Given the description of an element on the screen output the (x, y) to click on. 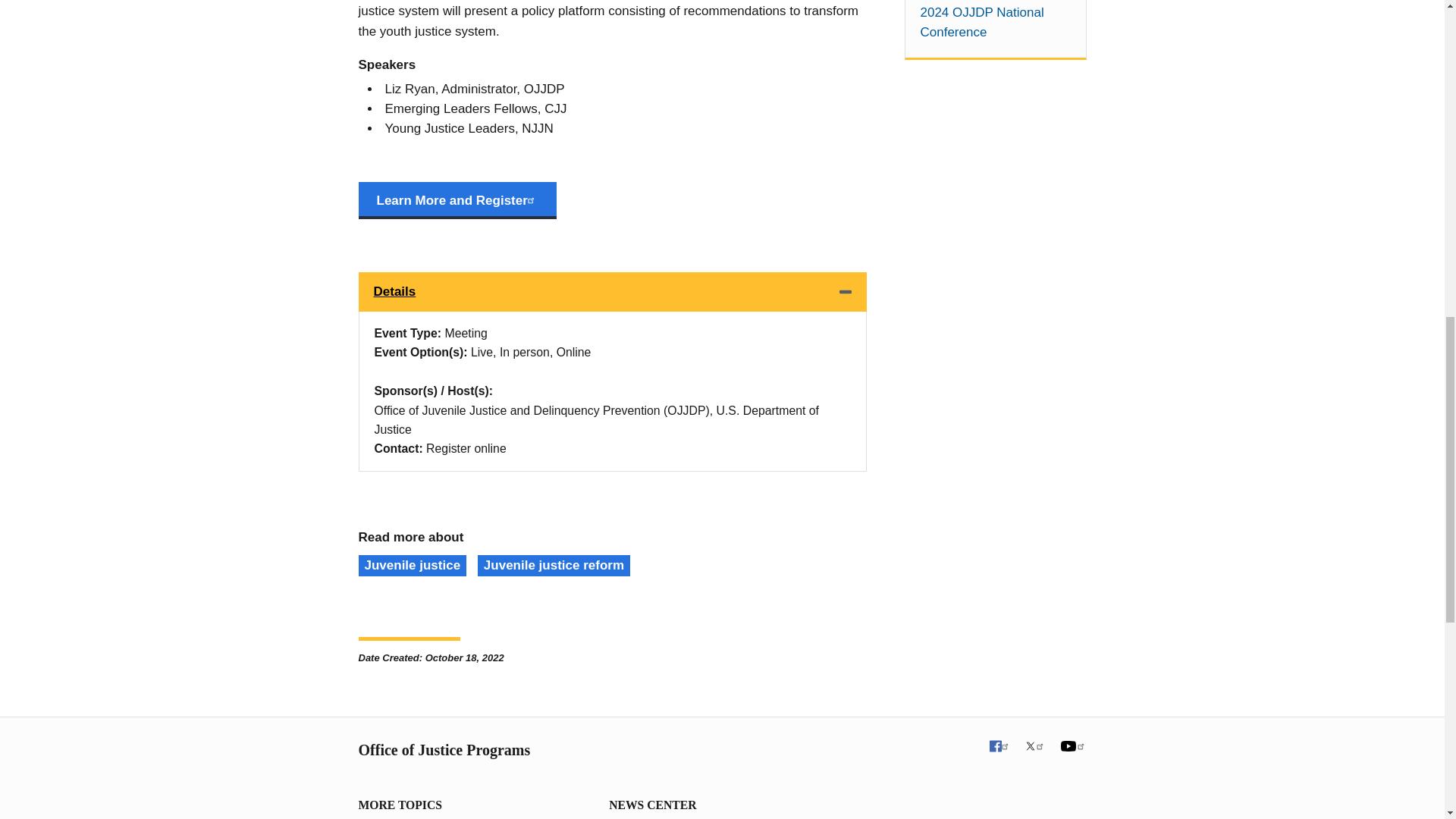
Details (612, 291)
Juvenile justice (411, 565)
2024 OJJDP National Conference (995, 22)
2024 OJJDP National Conference (995, 22)
Juvenile justice reform (553, 565)
